Given the description of an element on the screen output the (x, y) to click on. 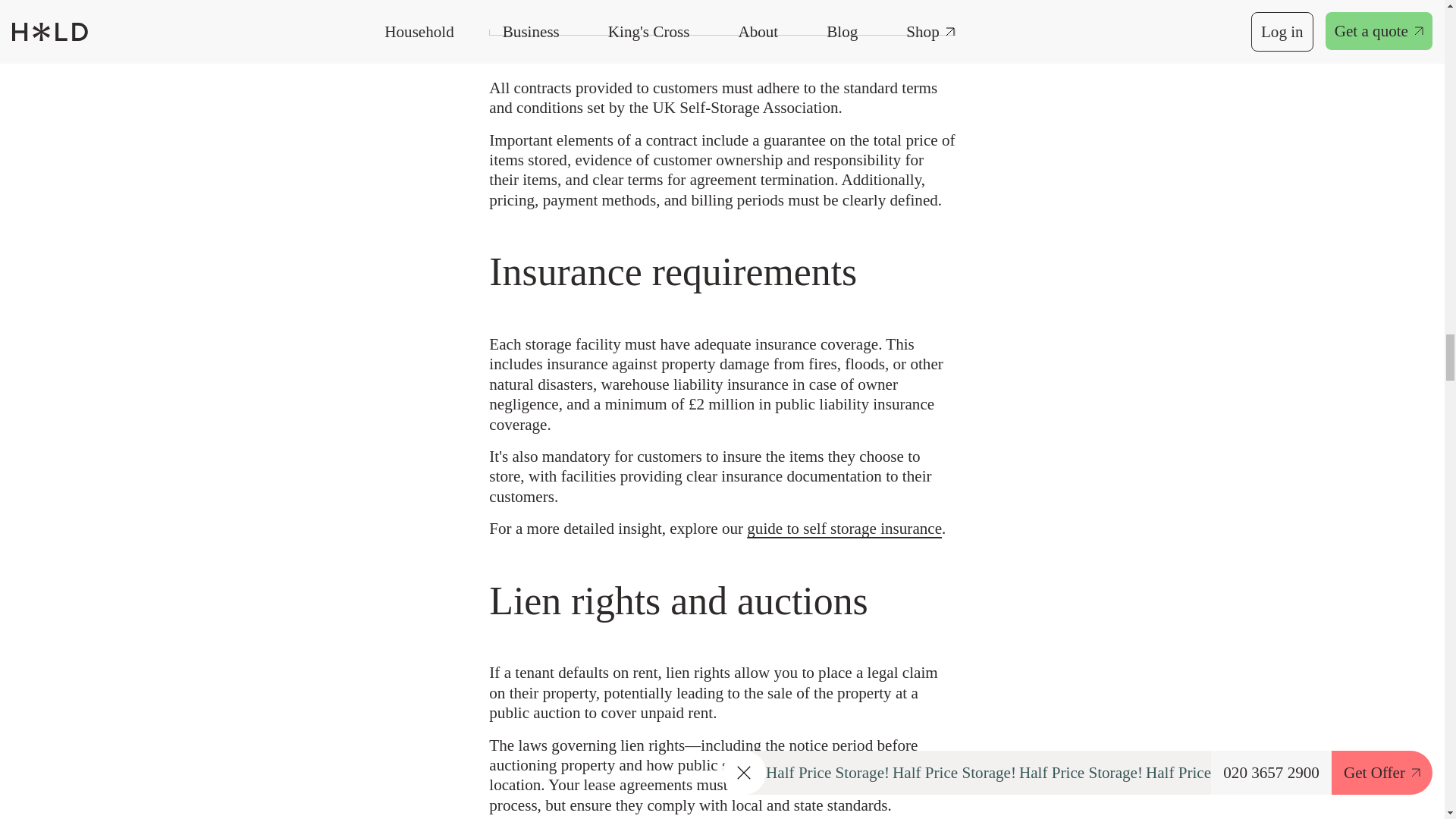
guide to self storage insurance (844, 528)
